Given the description of an element on the screen output the (x, y) to click on. 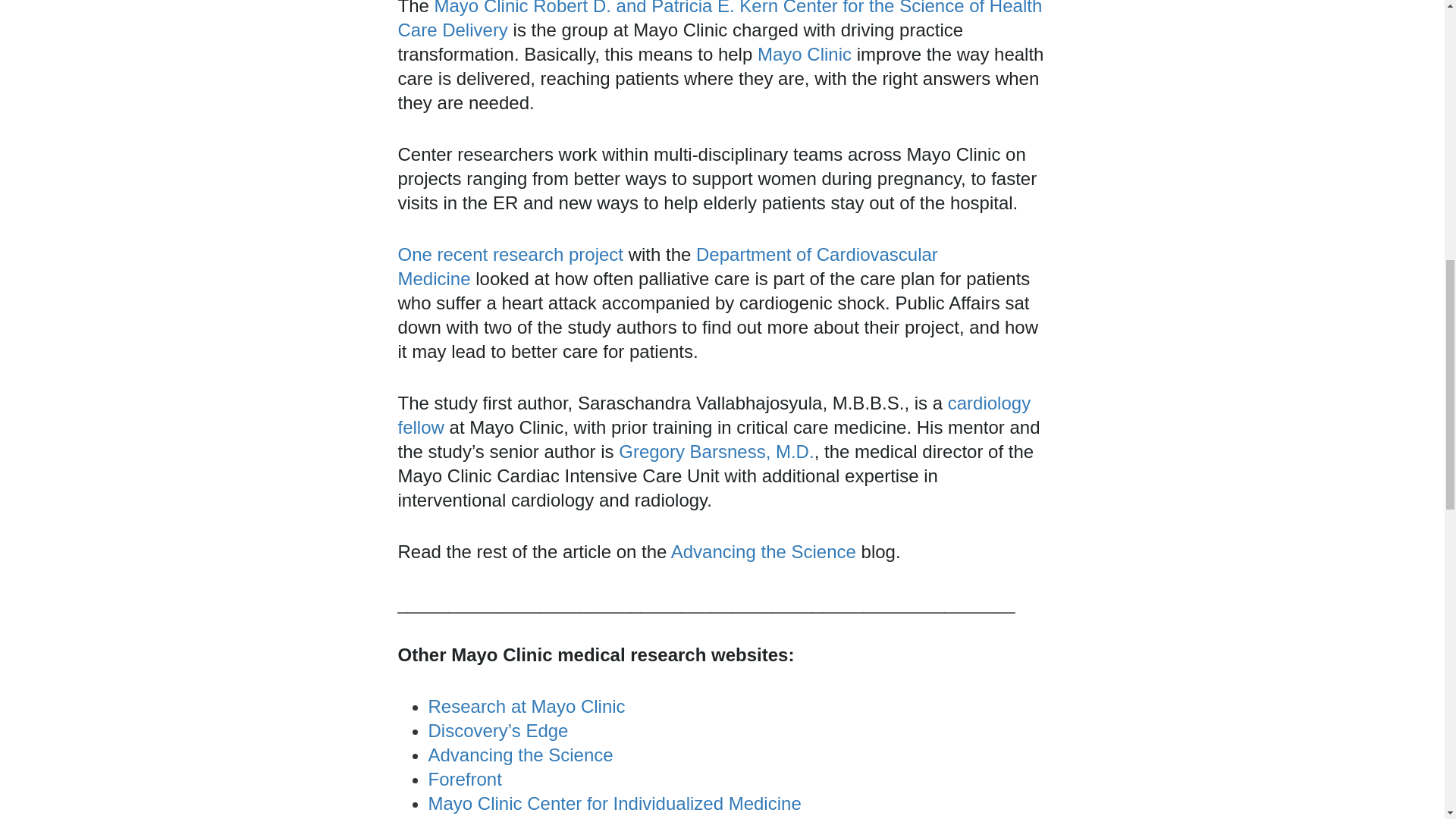
Advancing the Science (763, 551)
Forefront (464, 779)
One recent research project (510, 254)
Mayo Clinic (804, 54)
Department of Cardiovascular Medicine (667, 266)
cardiology fellow (713, 415)
Gregory Barsness, M.D. (715, 451)
Research at Mayo Clinic (526, 706)
Mayo Clinic Center for Individualized Medicine (614, 803)
Advancing the Science (520, 754)
